Given the description of an element on the screen output the (x, y) to click on. 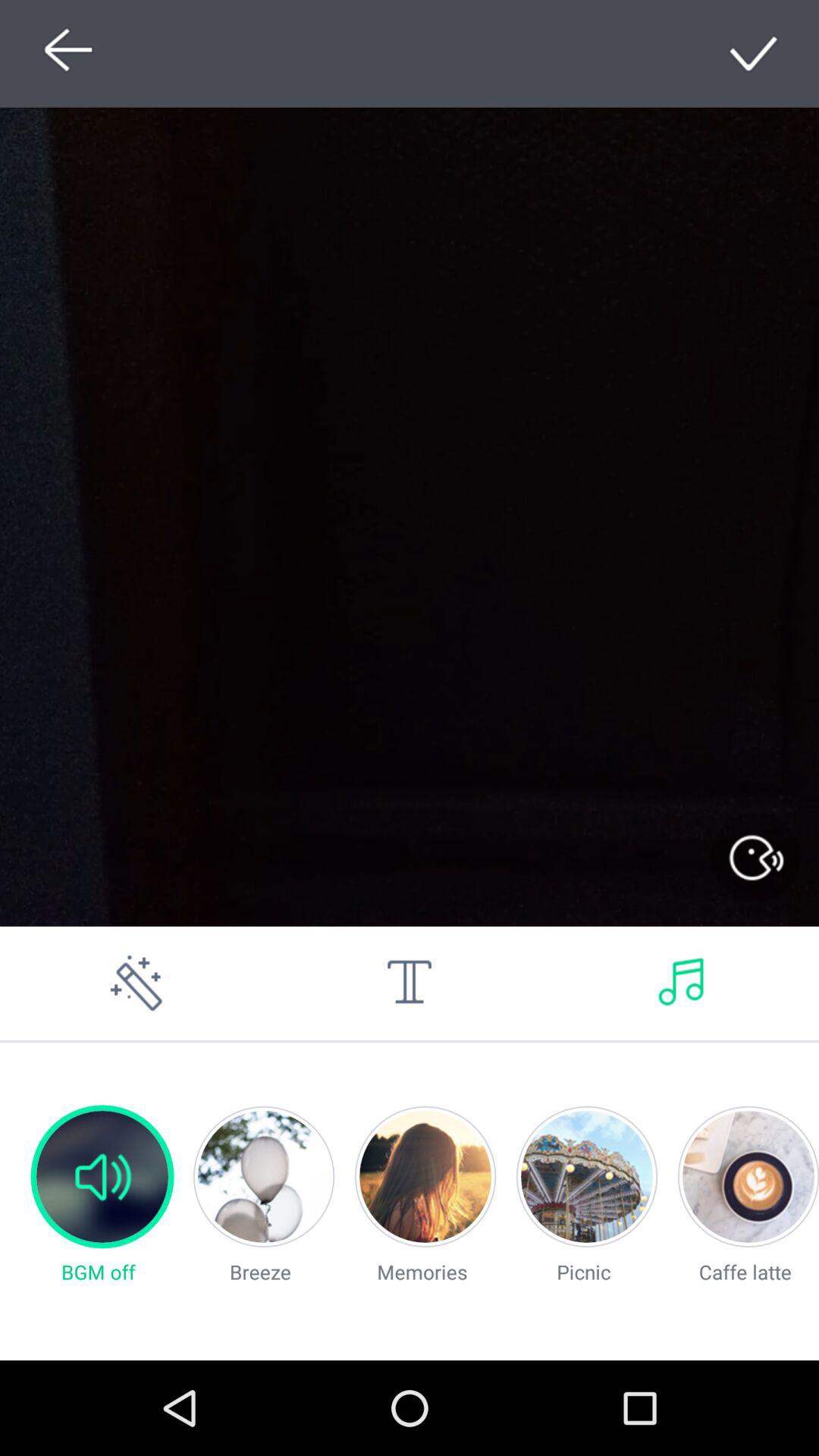
confirm choice (754, 53)
